Given the description of an element on the screen output the (x, y) to click on. 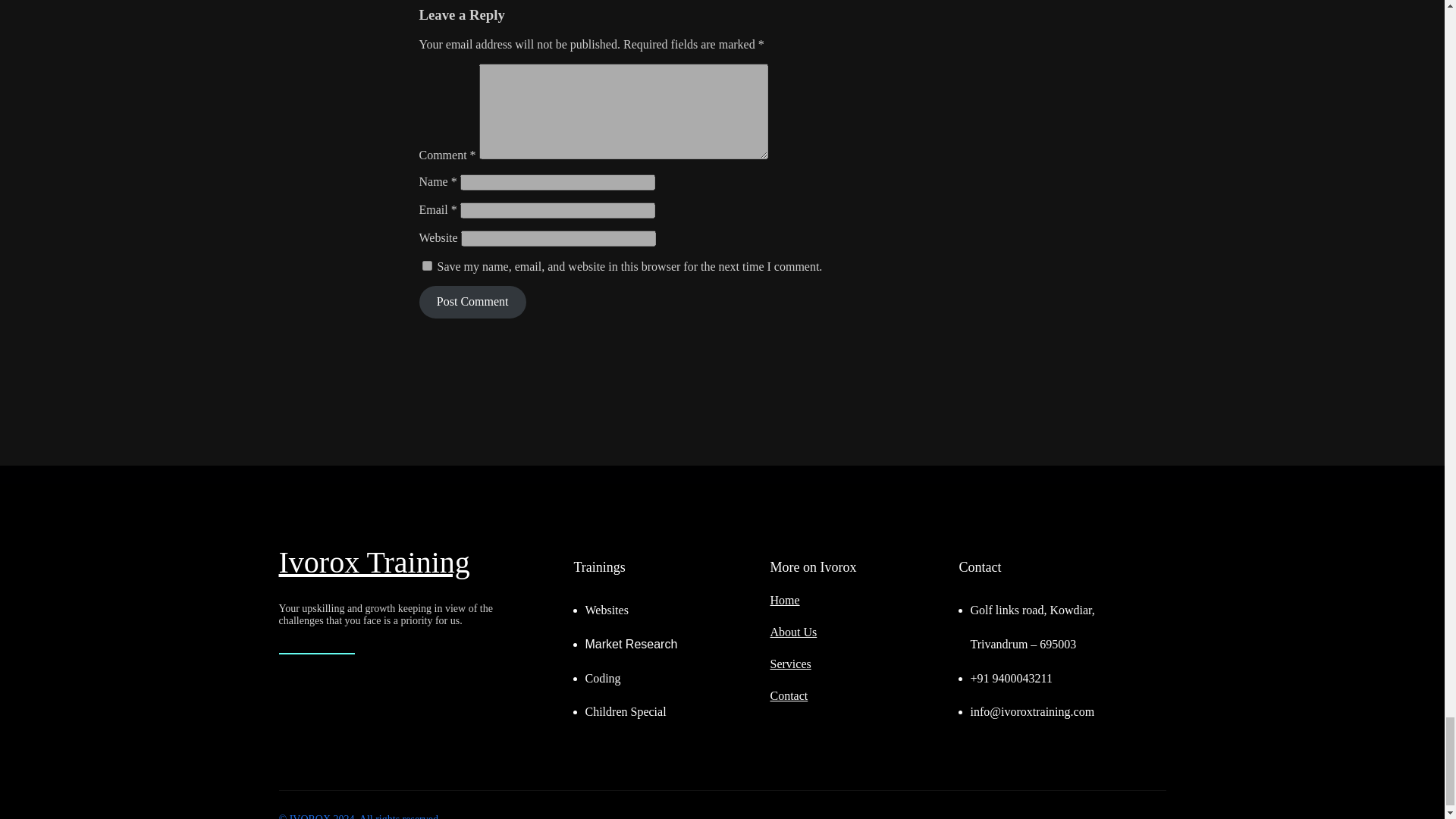
Ivorox Training (374, 562)
Twitter (1084, 817)
Facebook (1048, 817)
YouTube (1157, 817)
Home (784, 599)
Services (790, 663)
yes (426, 266)
Instagram (1120, 817)
Post Comment (472, 301)
Contact (789, 695)
Post Comment (472, 301)
About Us (793, 631)
